Given the description of an element on the screen output the (x, y) to click on. 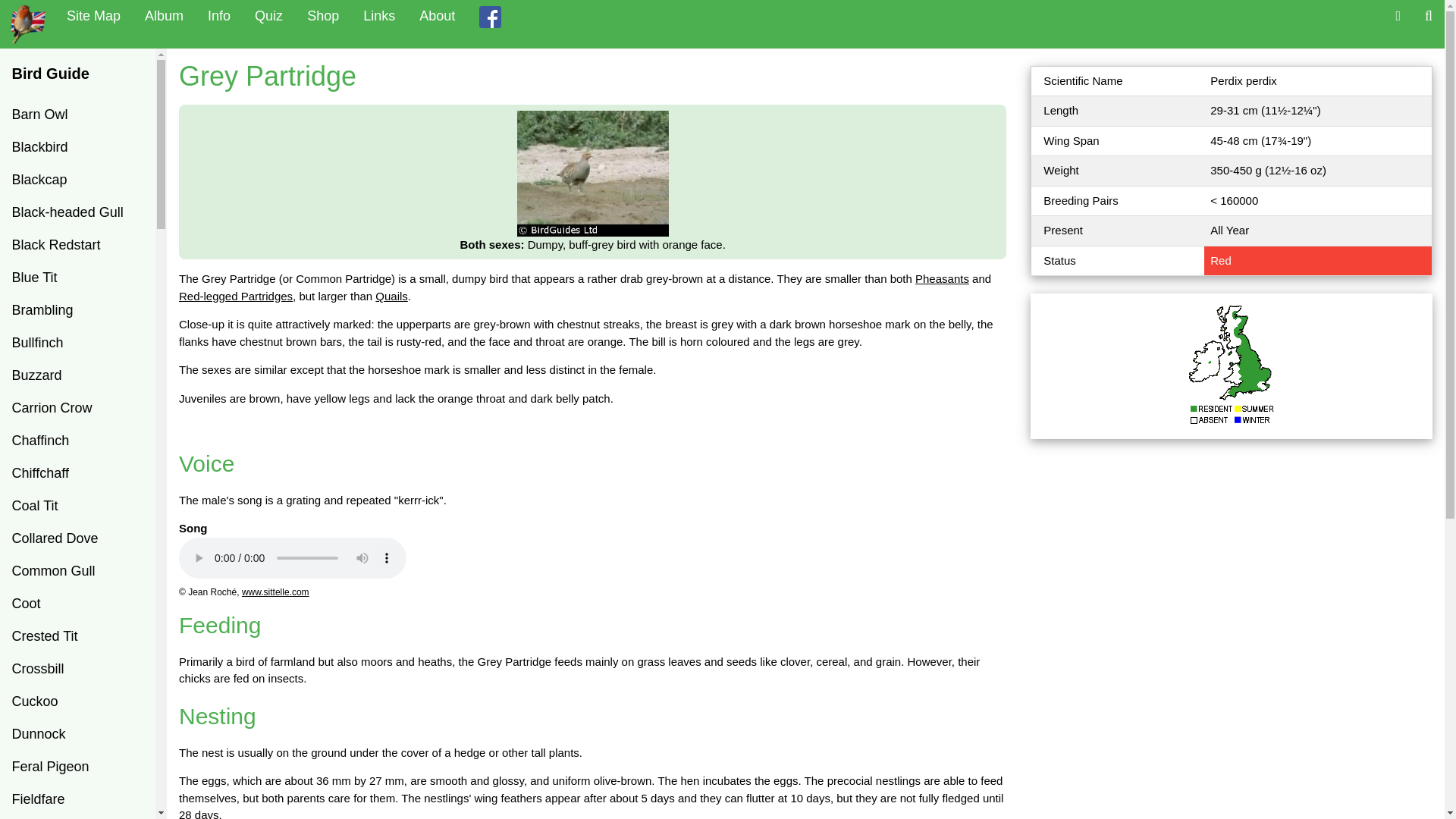
Brambling (77, 310)
Crested Tit (77, 635)
British Garden Birds (26, 24)
Site Map (93, 16)
Coot (77, 603)
Collared Dove (77, 538)
Buzzard (77, 375)
Dunnock (77, 734)
About (437, 16)
Fieldfare (77, 798)
